Given the description of an element on the screen output the (x, y) to click on. 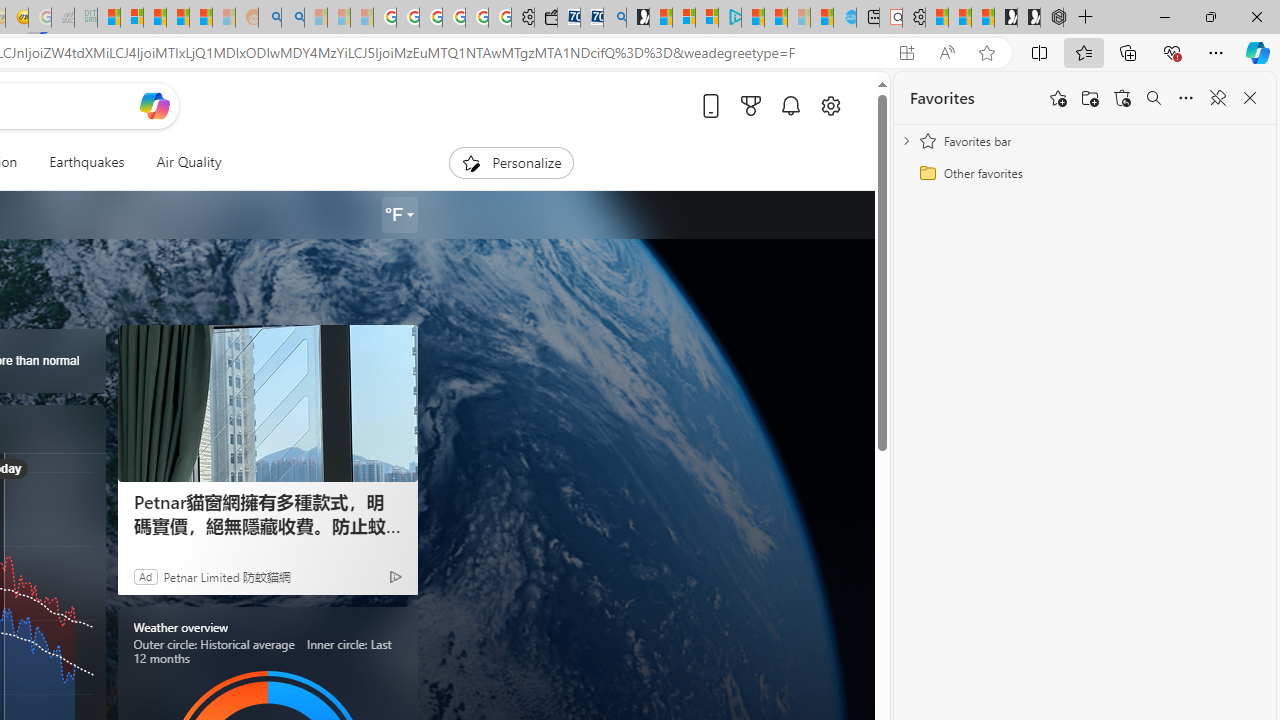
Bing Real Estate - Home sales and rental listings (614, 17)
Search favorites (1153, 98)
Earthquakes (86, 162)
Student Loan Update: Forgiveness Program Ends This Month (200, 17)
